Given the description of an element on the screen output the (x, y) to click on. 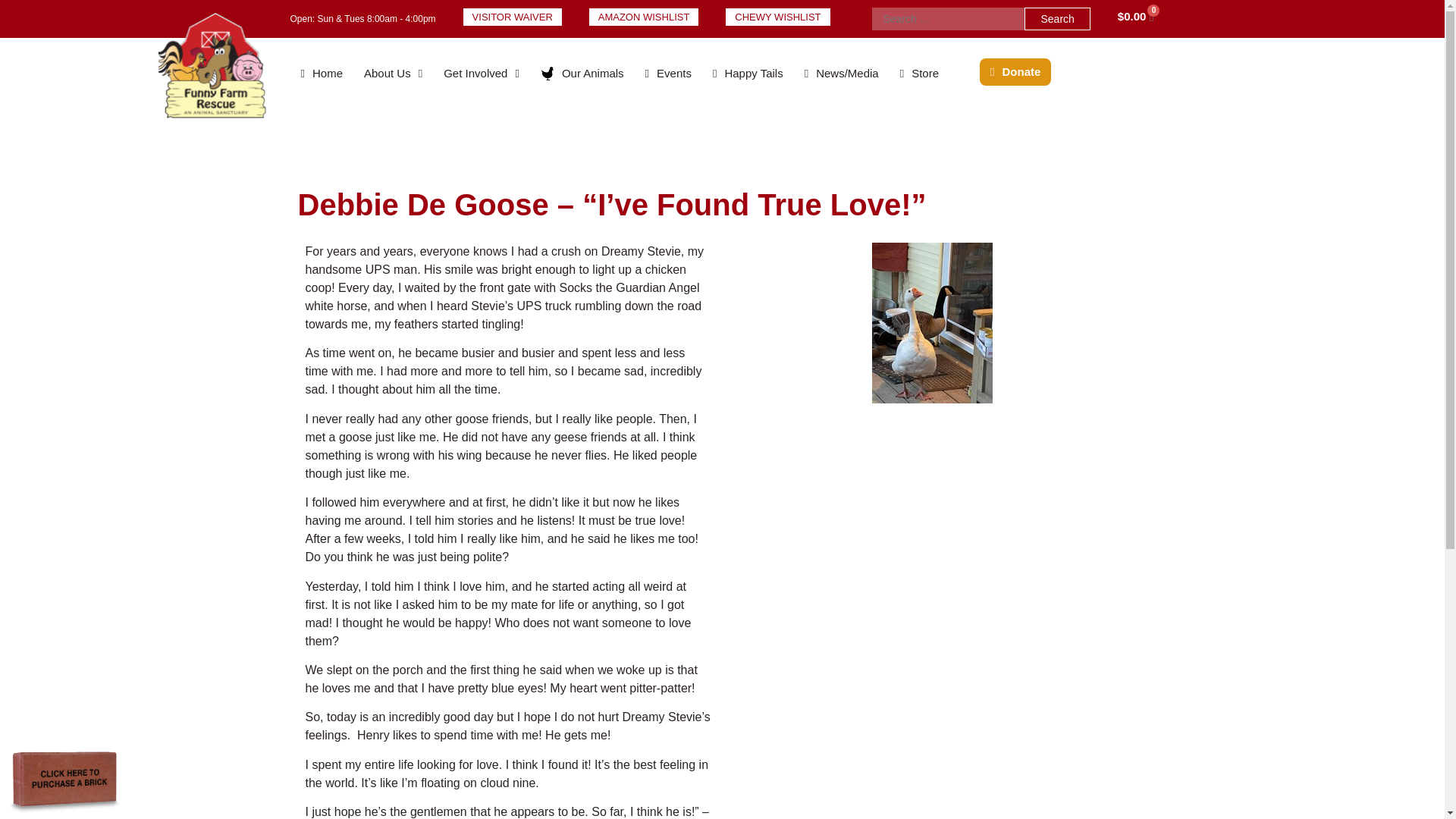
VISITOR WAIVER (512, 16)
Search (1057, 18)
Our Animals (581, 73)
Happy Tails (747, 73)
Search (1057, 18)
AMAZON WISHLIST (643, 16)
Store (919, 73)
Search (1057, 18)
Get Involved (480, 73)
About Us (392, 73)
Home (321, 73)
CHEWY WISHLIST (777, 16)
Events (667, 73)
